Given the description of an element on the screen output the (x, y) to click on. 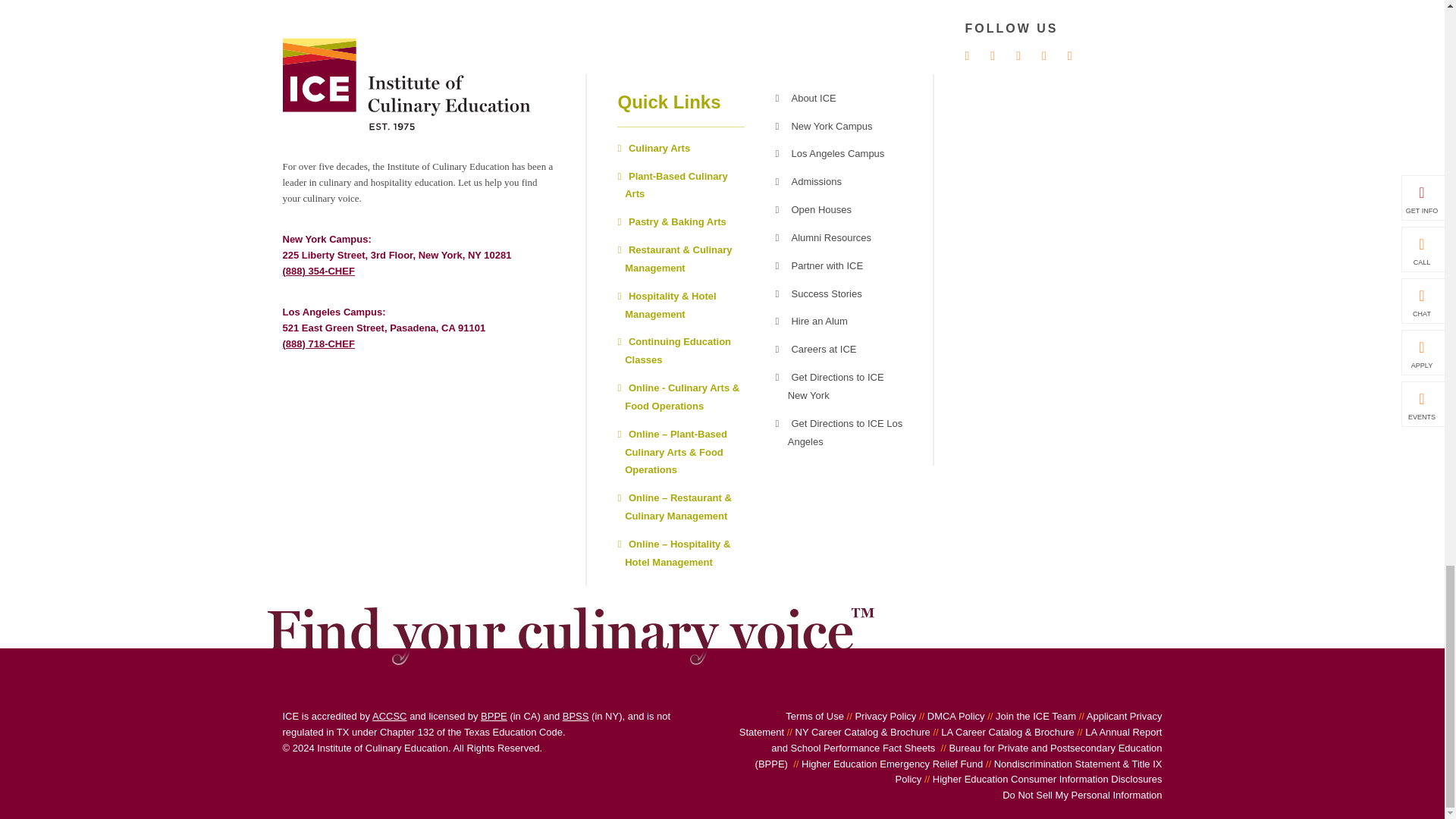
Accrediting Commission of Career Schools and Colleges (389, 715)
Bureau for Private Postsecondary Education (493, 715)
